Given the description of an element on the screen output the (x, y) to click on. 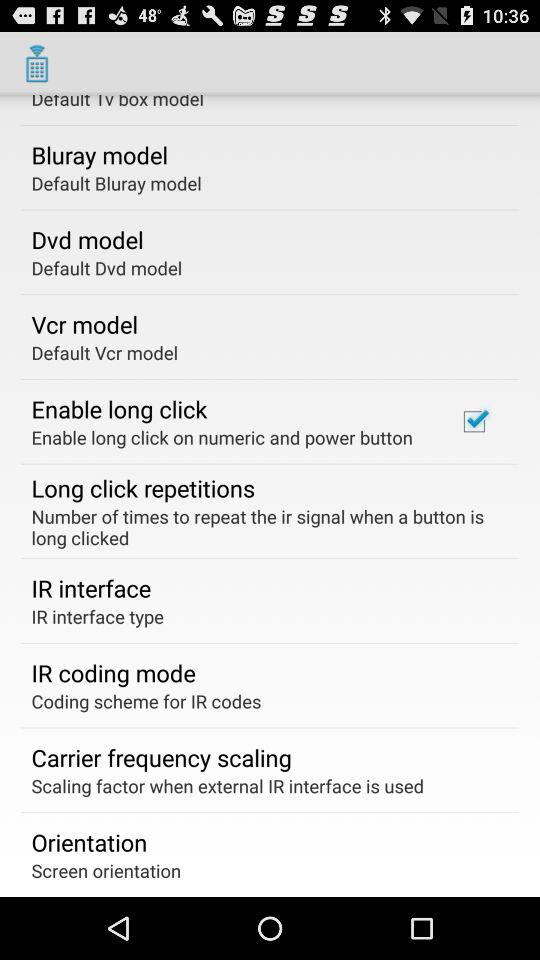
open carrier frequency scaling icon (161, 757)
